Given the description of an element on the screen output the (x, y) to click on. 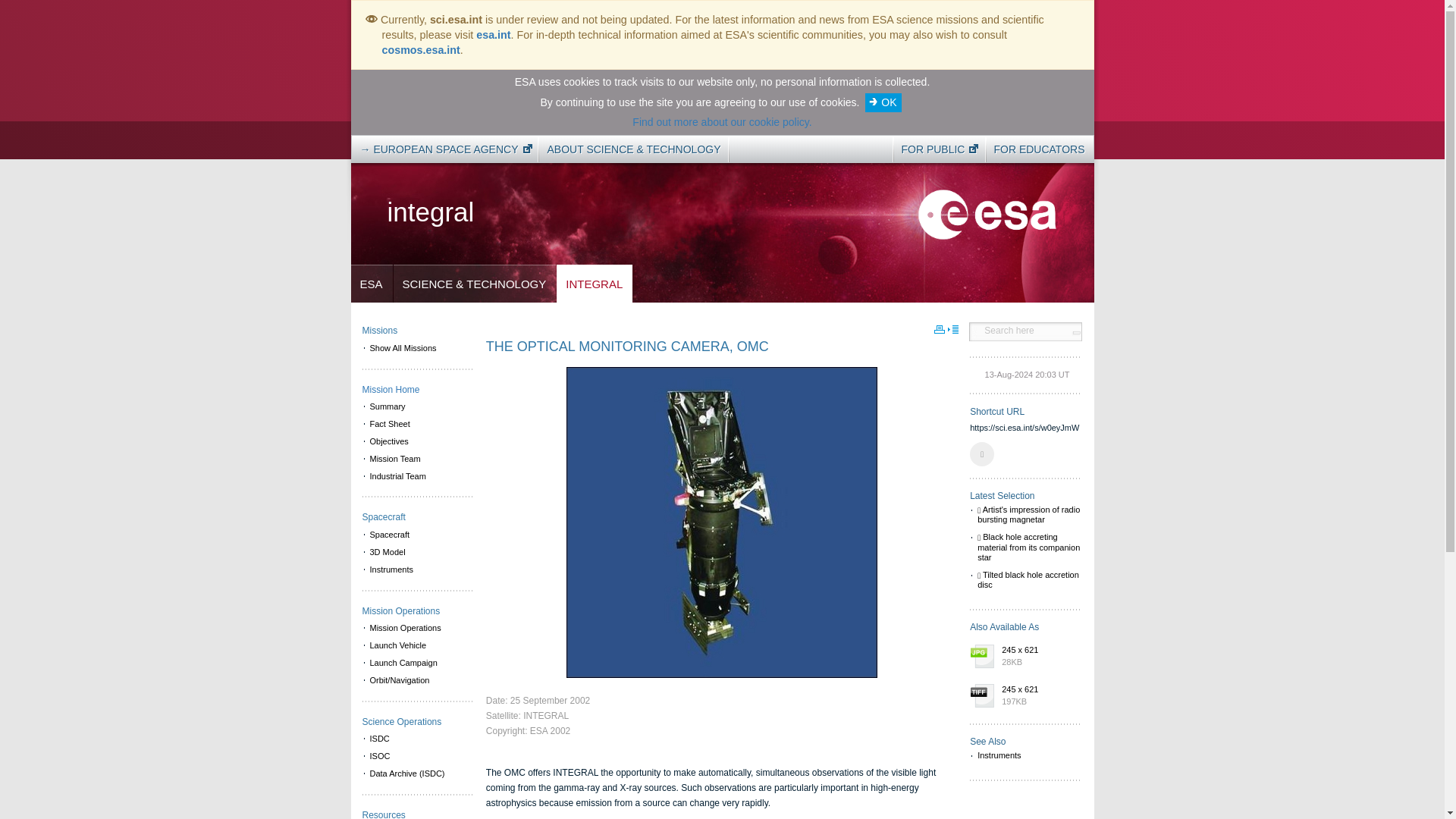
OK (882, 102)
FOR PUBLIC (935, 148)
Find out more about our cookie policy. (720, 121)
cosmos.esa.int (420, 50)
FOR EDUCATORS (1039, 148)
INTEGRAL (593, 283)
esa.int (493, 34)
ESA (370, 283)
